Given the description of an element on the screen output the (x, y) to click on. 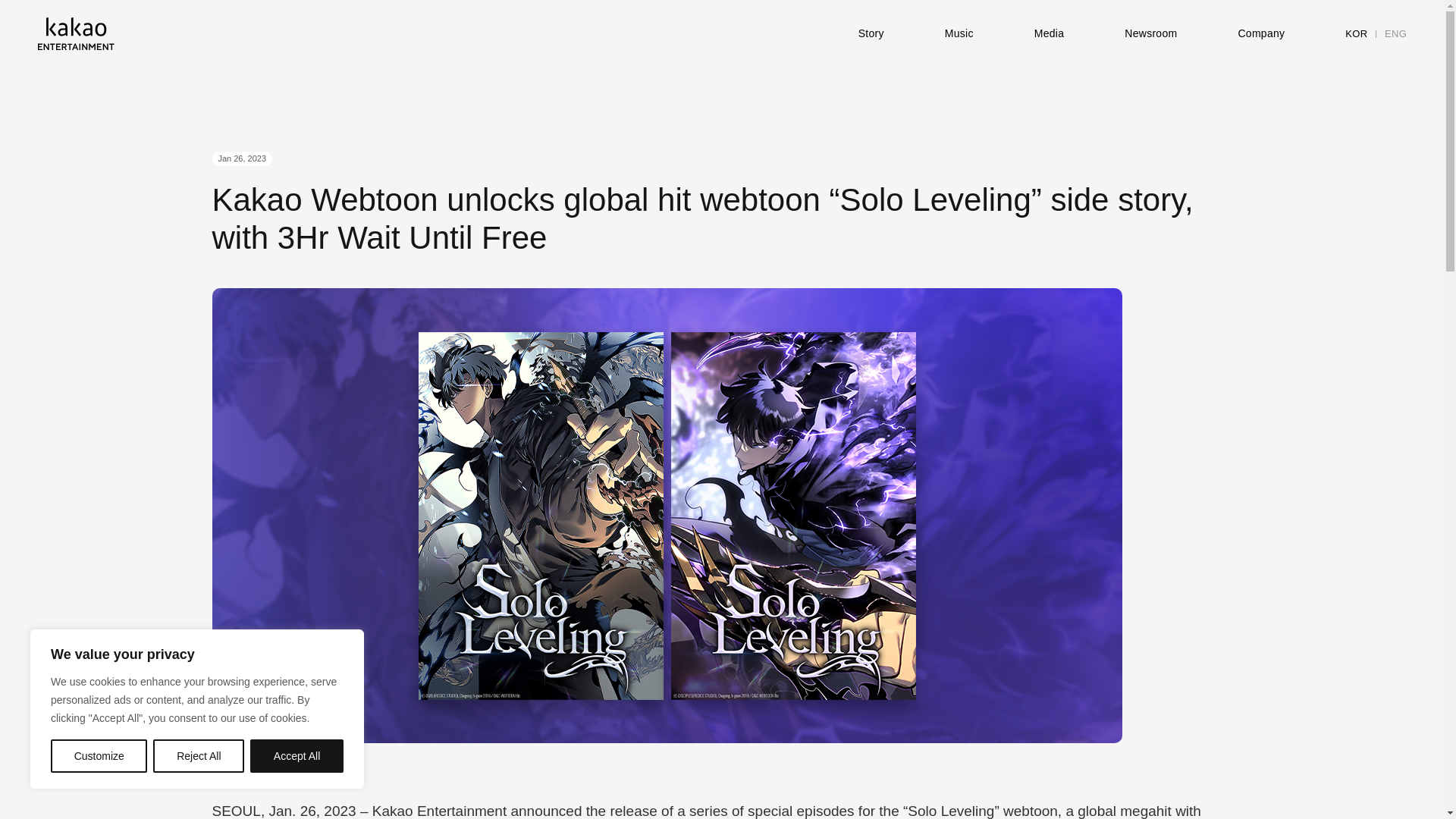
Customize (98, 756)
Media (1048, 32)
Accept All (296, 756)
Music (959, 32)
Story (870, 32)
Reject All (198, 756)
Company (1261, 32)
Newsroom (1150, 32)
KOR (1356, 33)
